Given the description of an element on the screen output the (x, y) to click on. 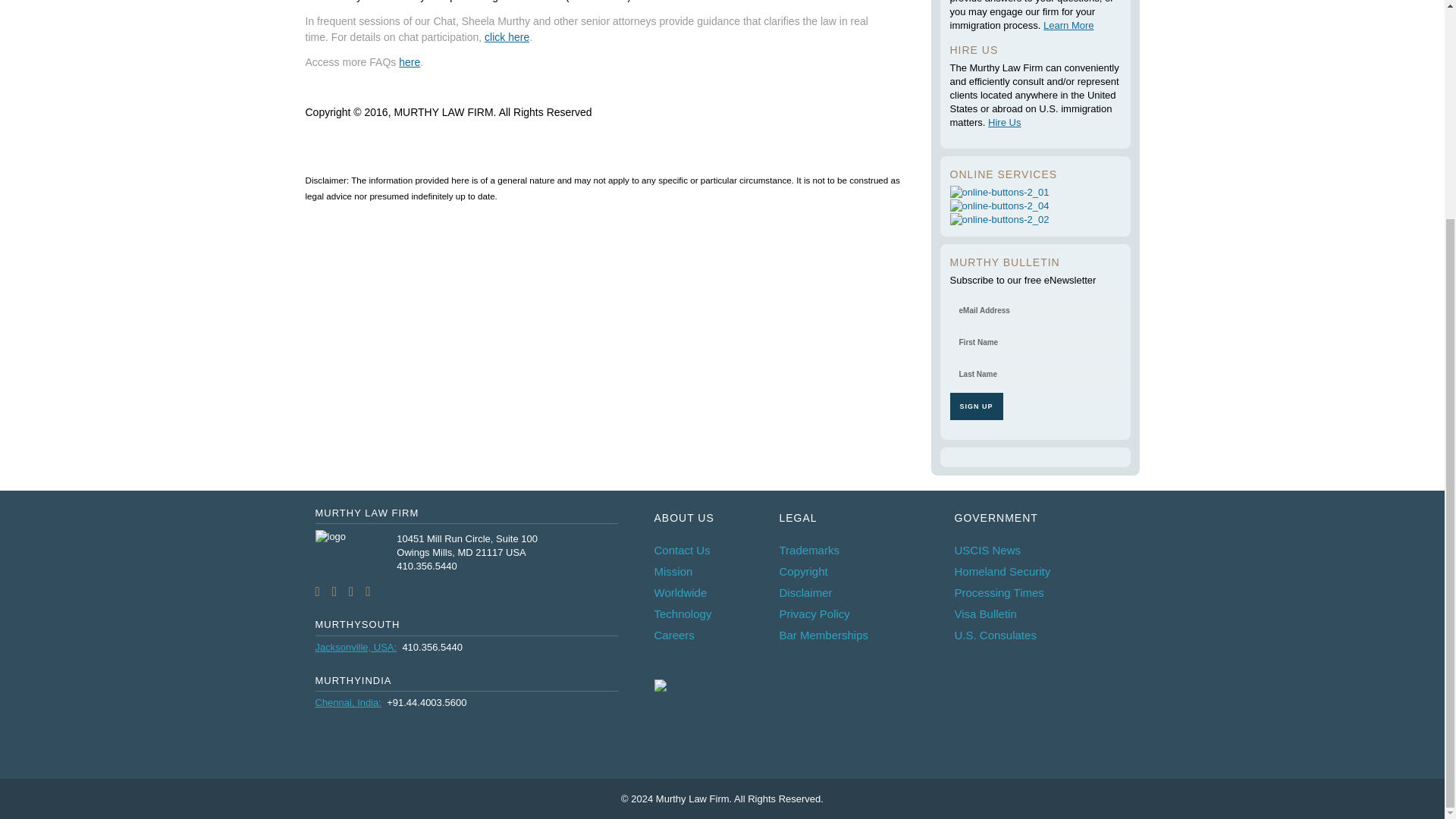
Sign up (976, 406)
